Given the description of an element on the screen output the (x, y) to click on. 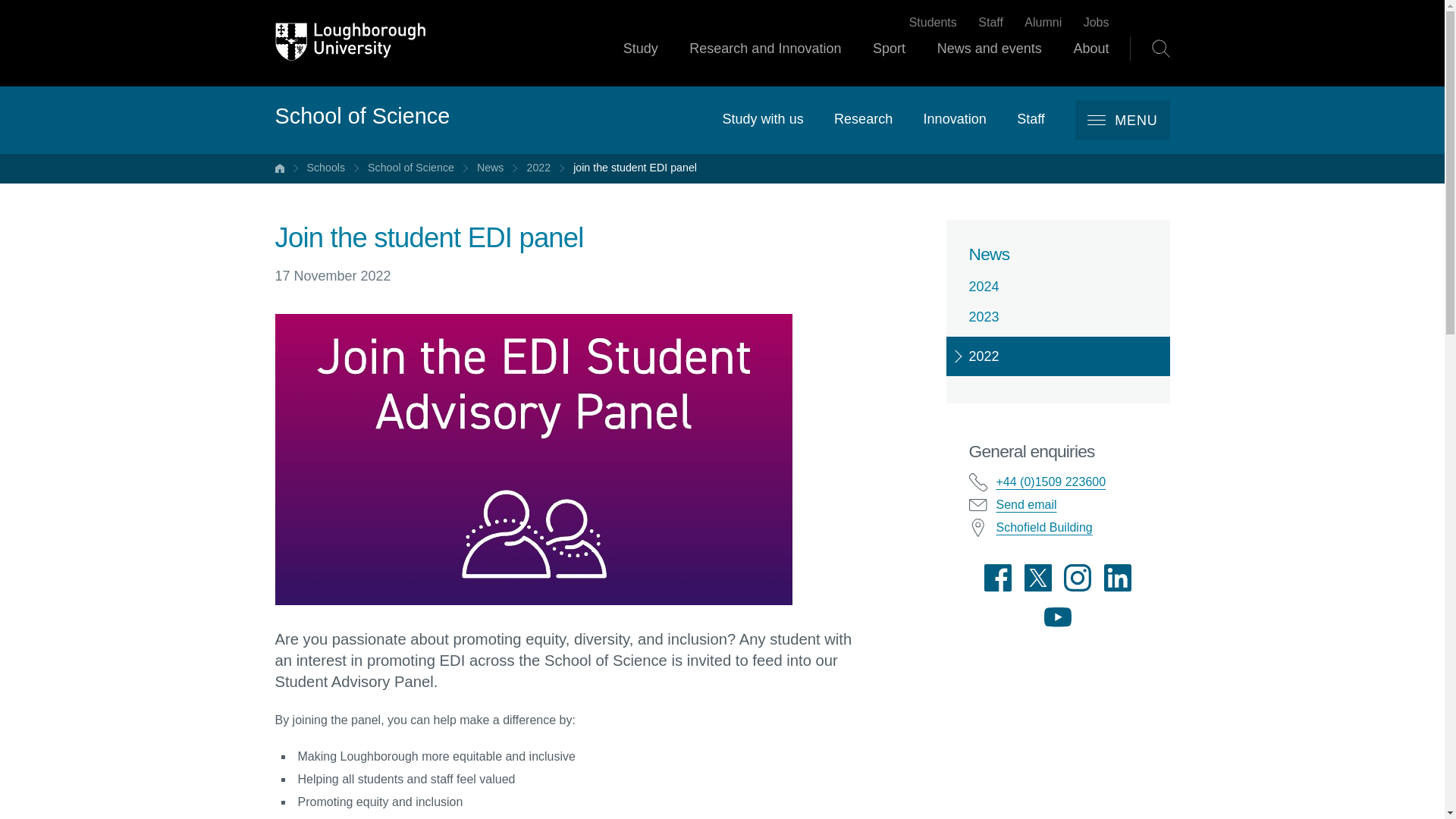
Staff (1030, 119)
Innovation (955, 119)
Research (863, 119)
School of Science (411, 168)
MENU (1122, 119)
University home (279, 167)
Toggle global search (1160, 48)
Staff (990, 22)
Schools (325, 168)
School of Science (362, 116)
2022 (537, 168)
Alumni (1043, 22)
News (490, 168)
Students (932, 22)
Study with us (762, 119)
